Given the description of an element on the screen output the (x, y) to click on. 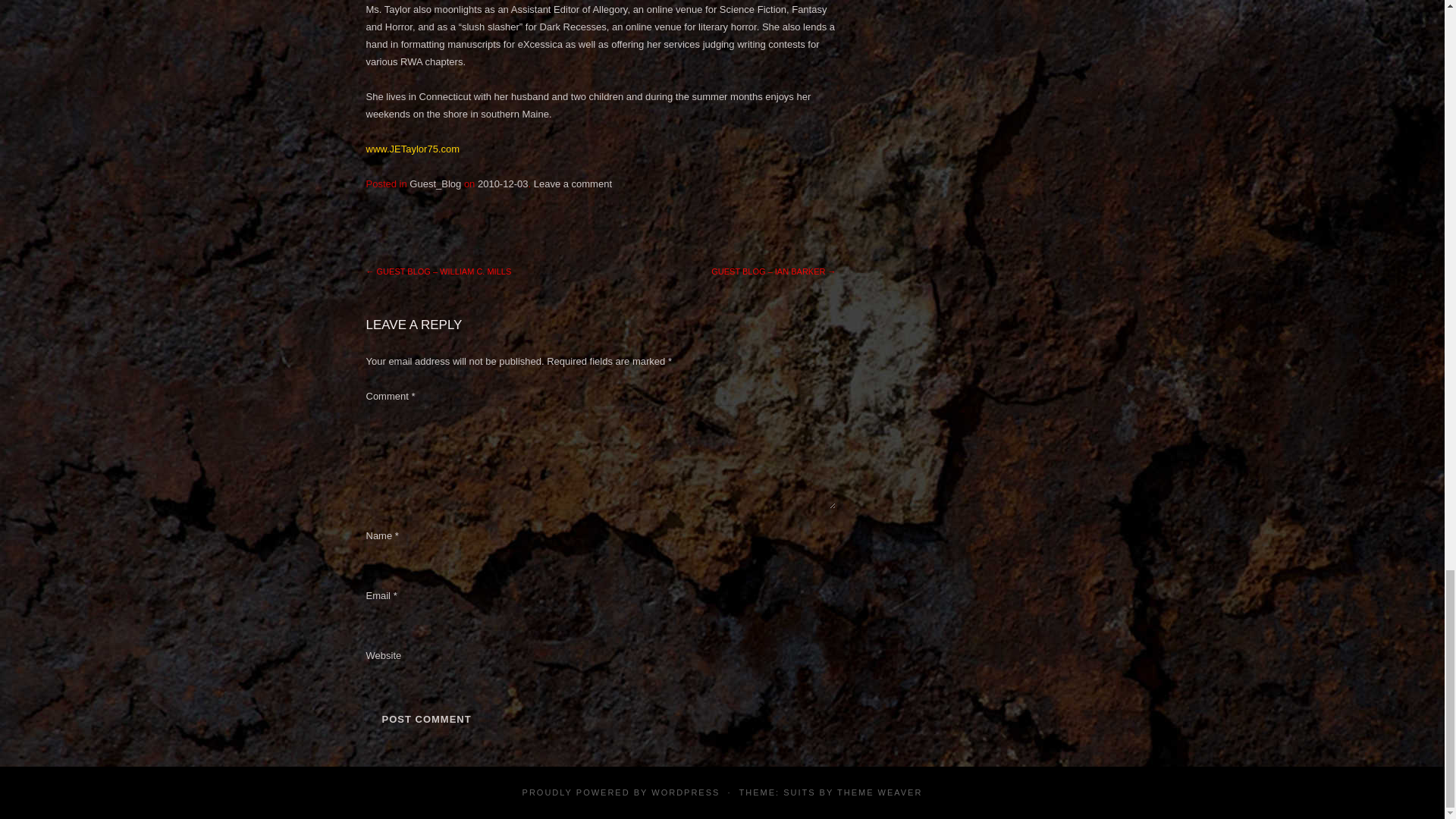
www.JETaylor75.com (412, 149)
Semantic Personal Publishing Platform (684, 791)
Post Comment (425, 719)
2010-12-03 (502, 184)
Post Comment (425, 719)
Theme Developer (879, 791)
Leave a comment (572, 184)
8:08 am (502, 184)
